Given the description of an element on the screen output the (x, y) to click on. 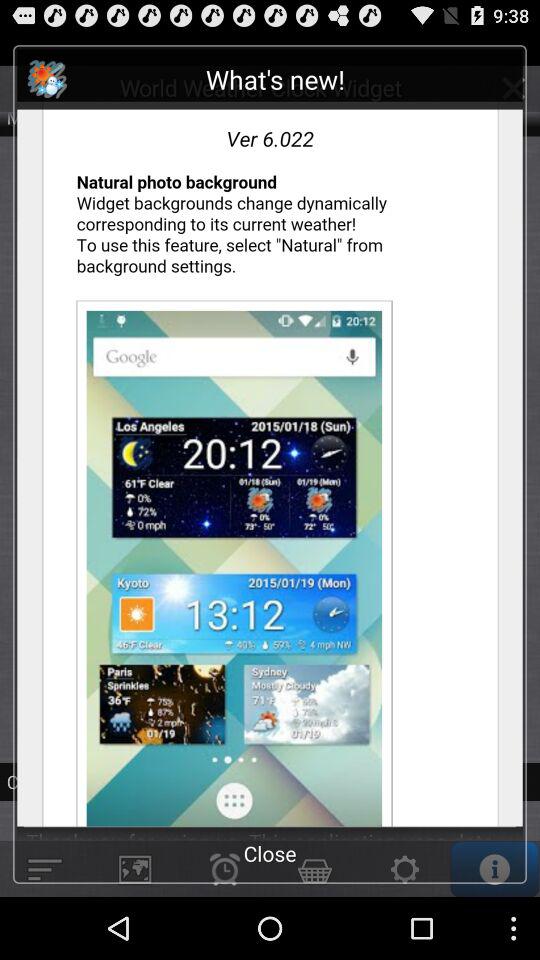
check new features (269, 444)
